Given the description of an element on the screen output the (x, y) to click on. 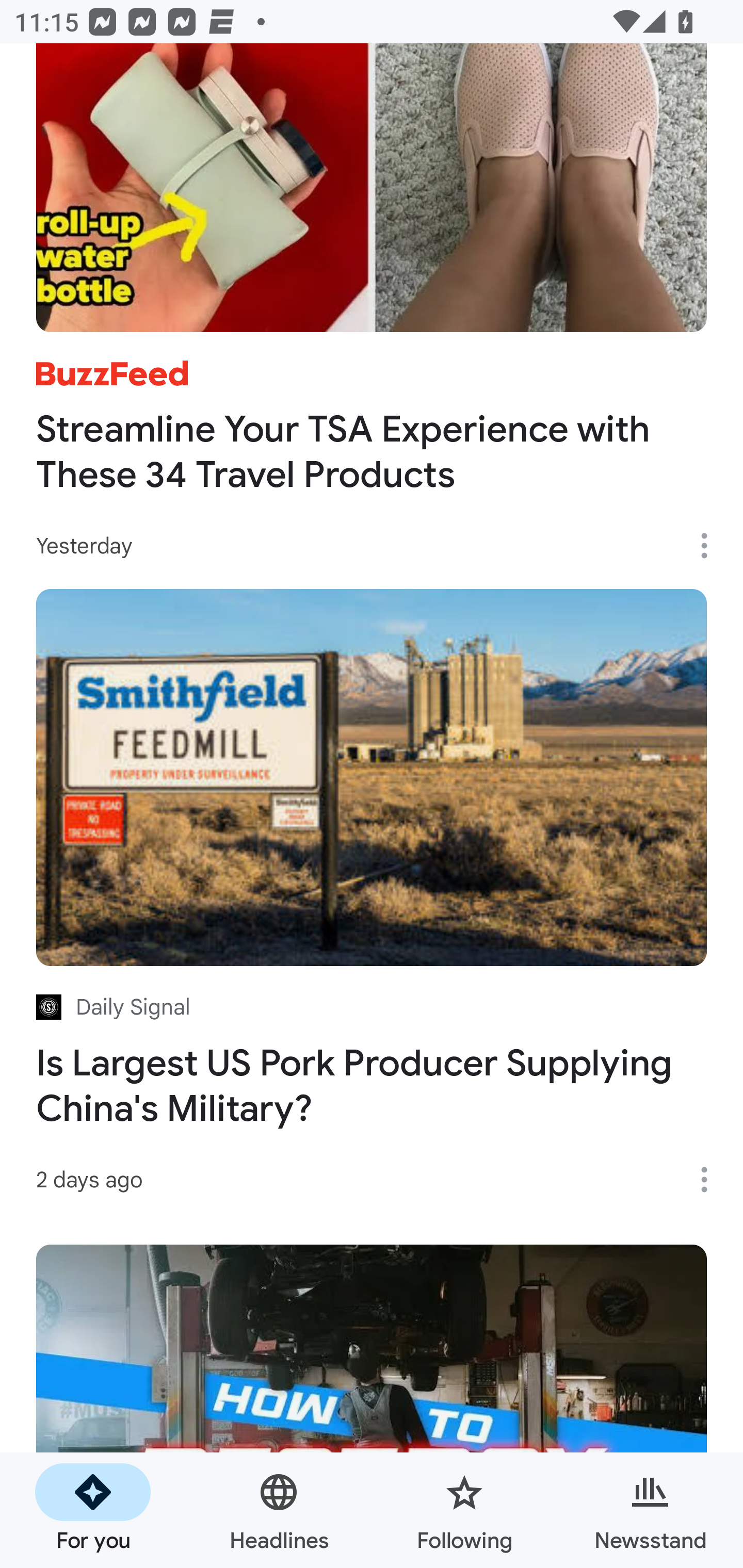
More options (711, 545)
More options (711, 1179)
For you (92, 1509)
Headlines (278, 1509)
Following (464, 1509)
Newsstand (650, 1509)
